Given the description of an element on the screen output the (x, y) to click on. 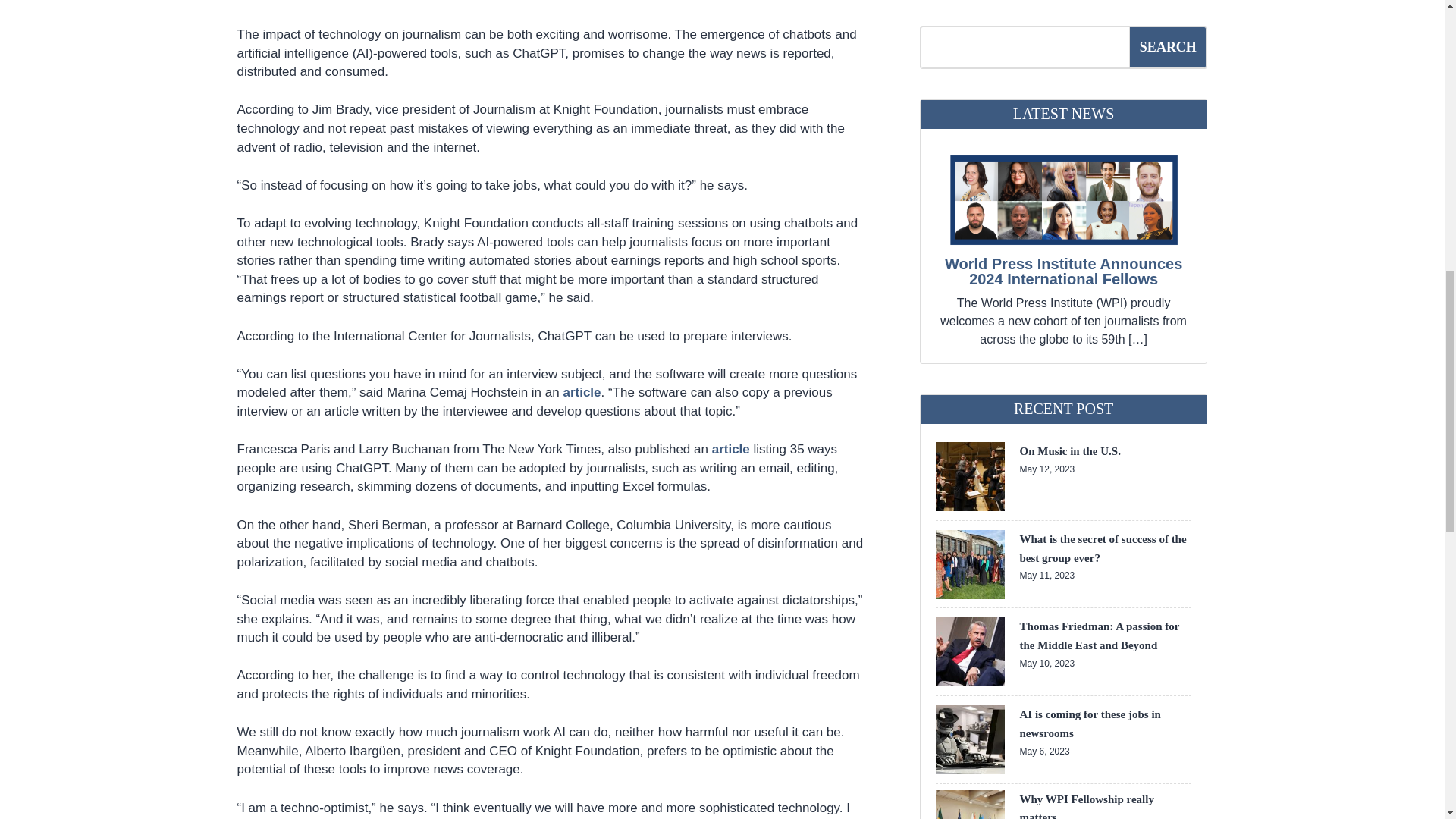
article (730, 449)
article (580, 391)
Search (1168, 46)
